Given the description of an element on the screen output the (x, y) to click on. 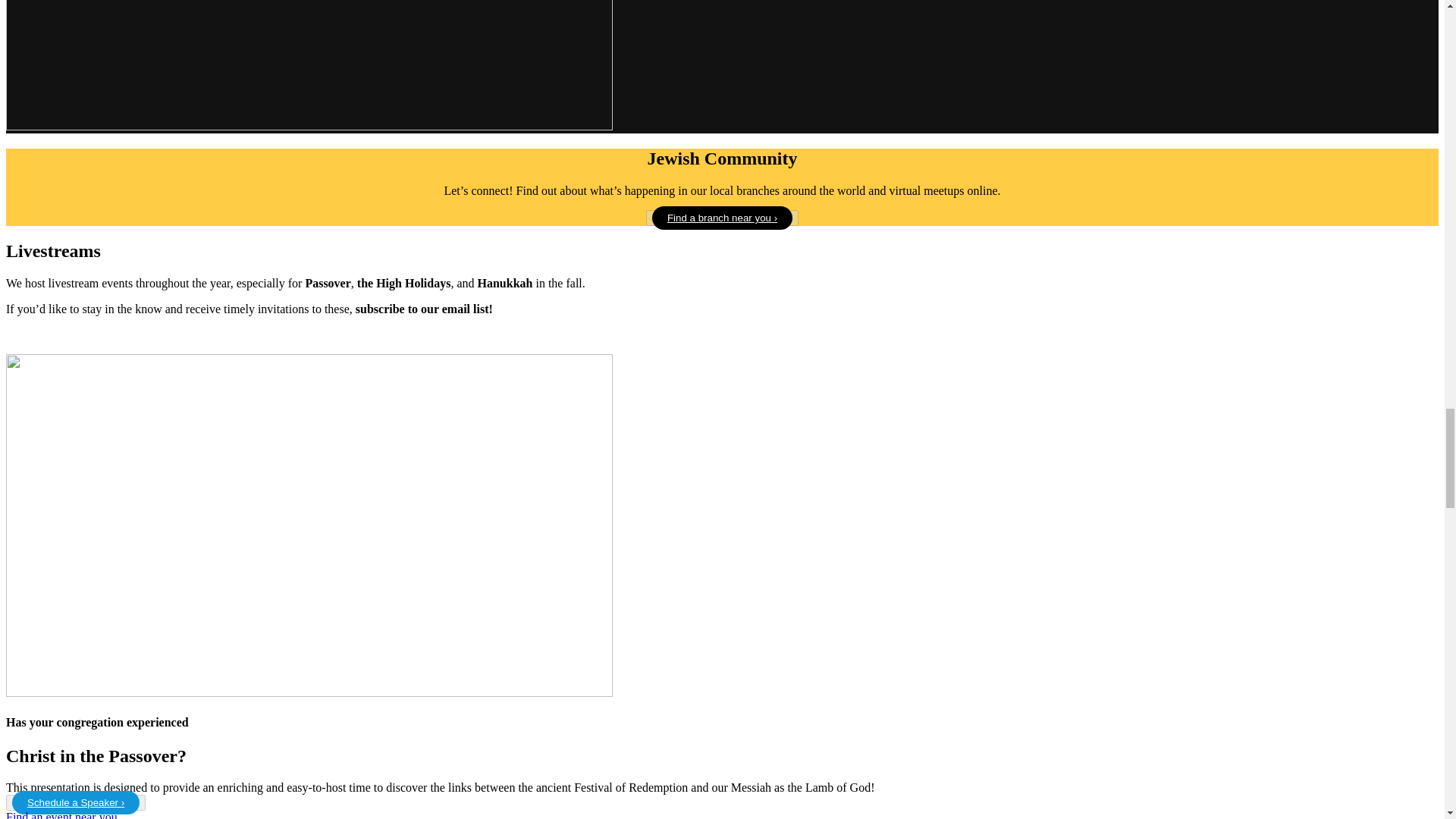
Find an event near you (61, 814)
